Given the description of an element on the screen output the (x, y) to click on. 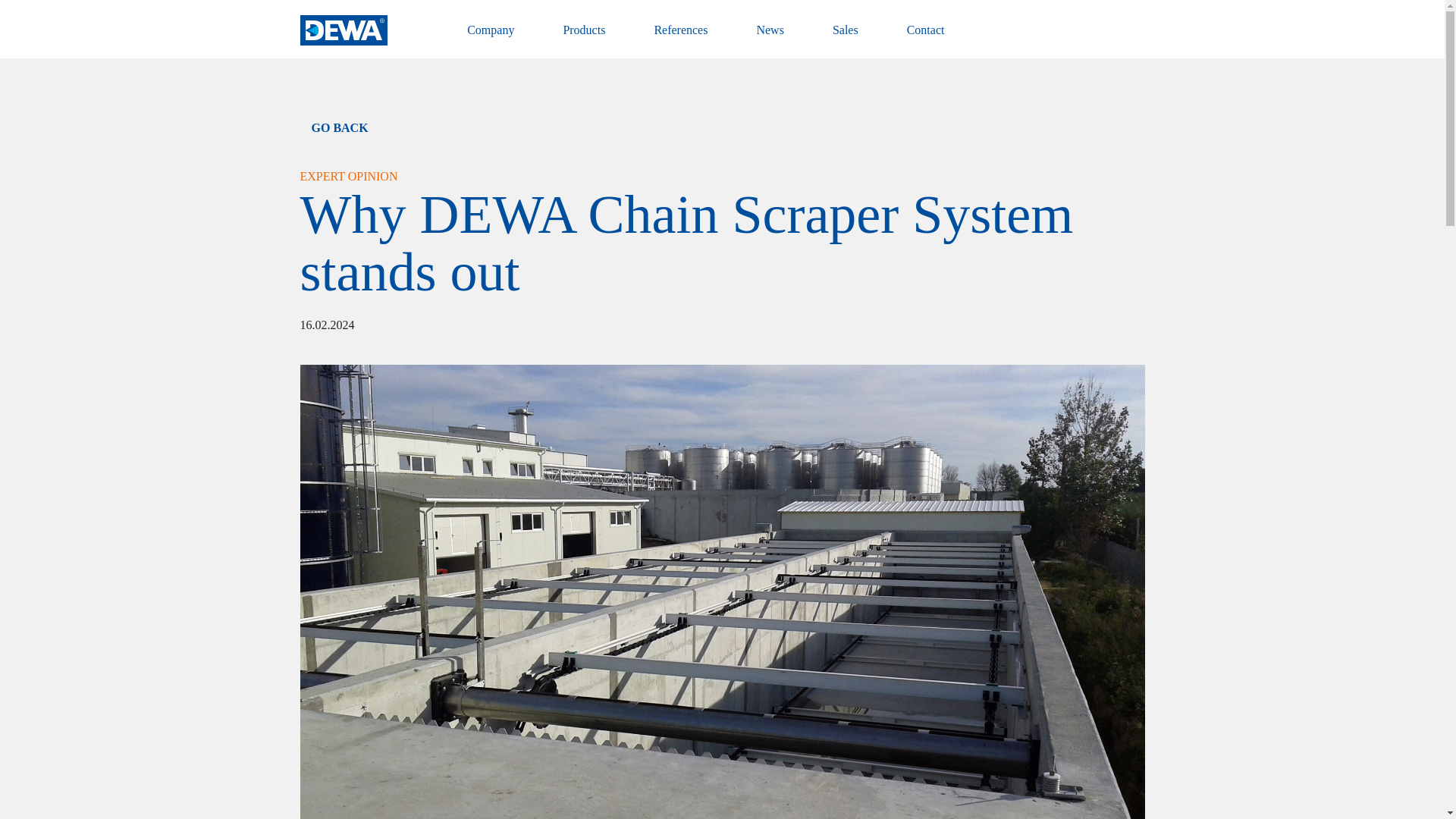
Company (490, 39)
Products (583, 39)
References (680, 39)
Contact (925, 39)
GO BACK (721, 127)
